Given the description of an element on the screen output the (x, y) to click on. 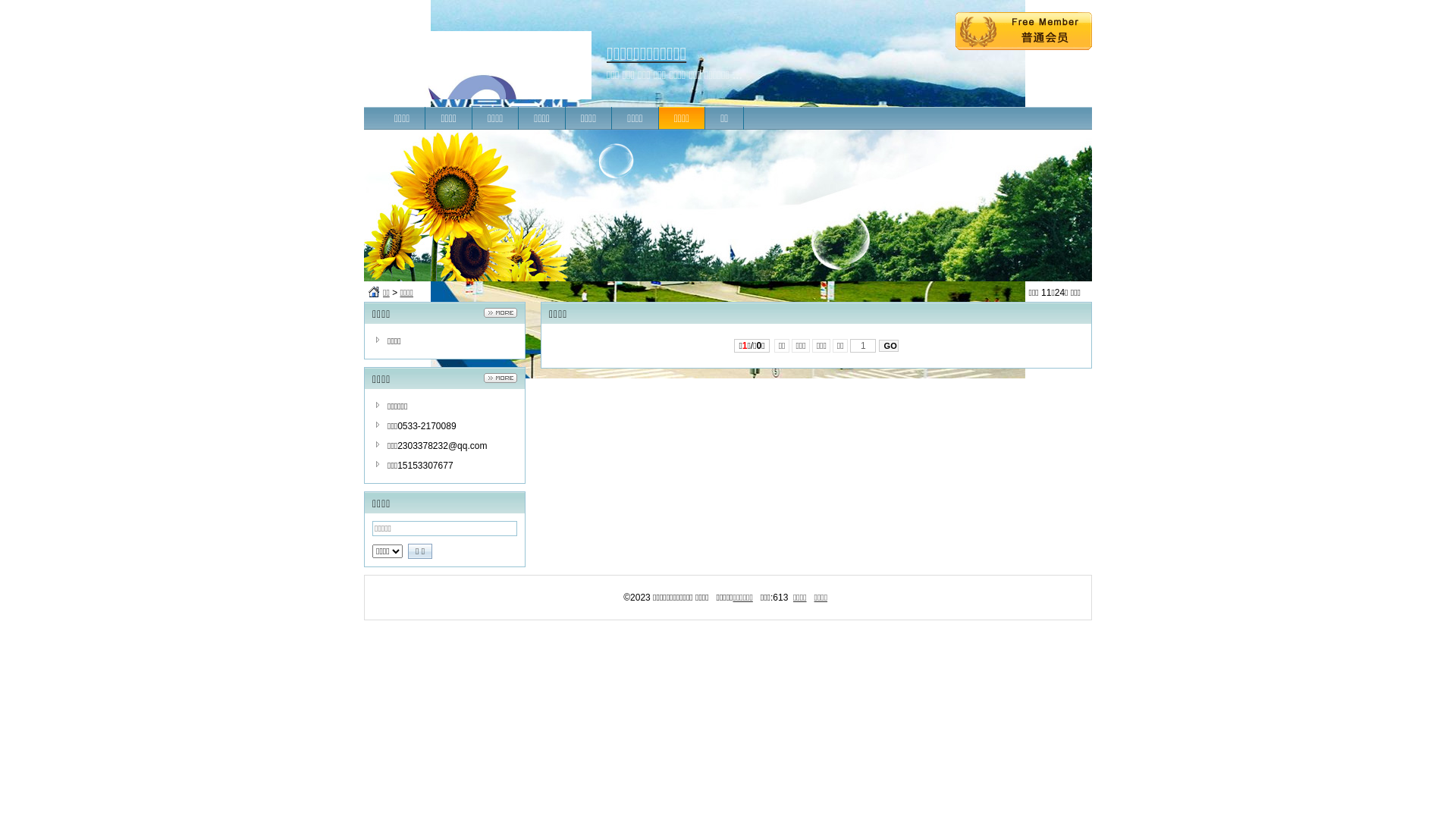
GO Element type: text (888, 345)
